Given the description of an element on the screen output the (x, y) to click on. 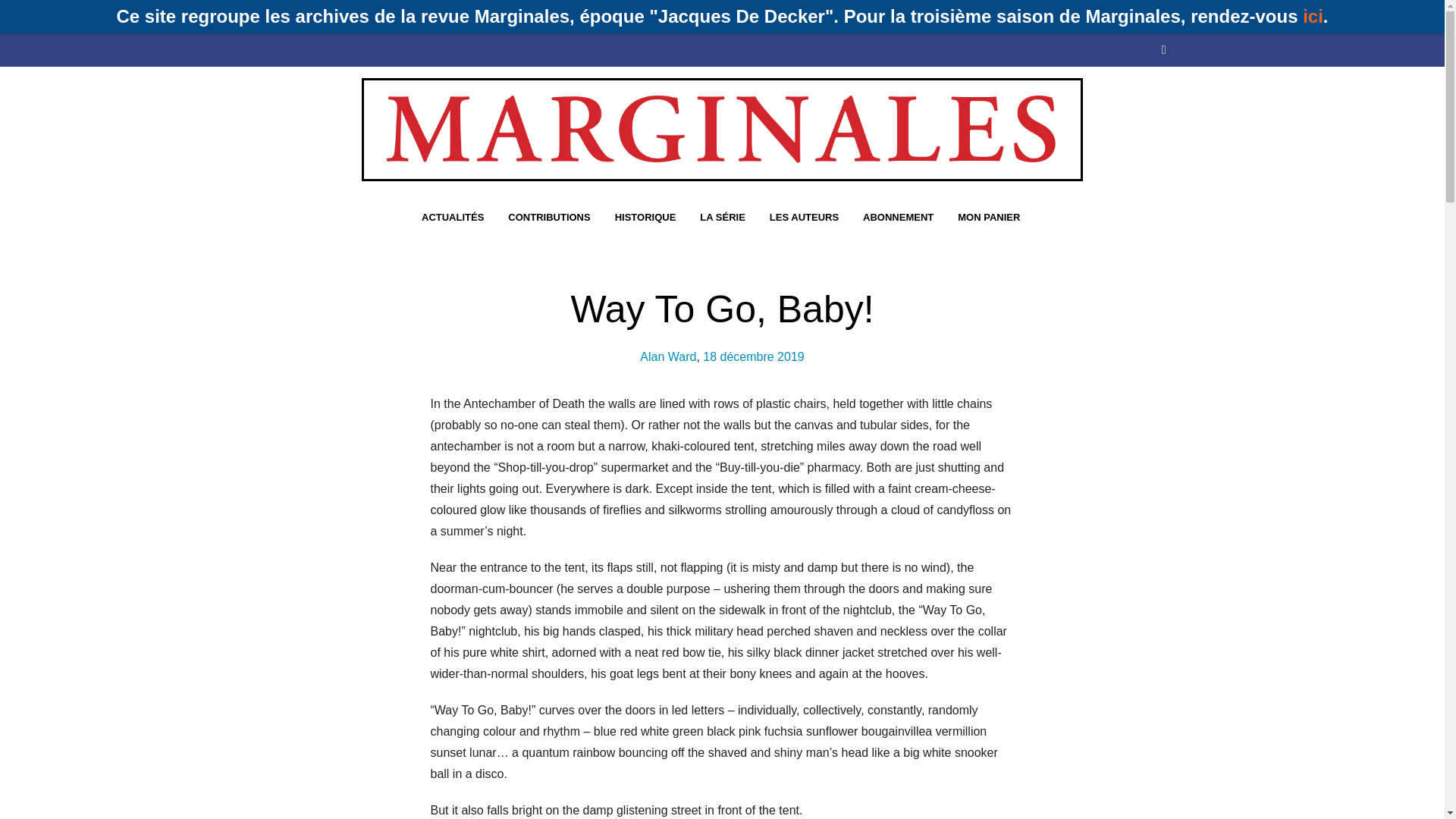
ABONNEMENT (897, 216)
HISTORIQUE (510, 7)
Recherche (1086, 222)
LES AUTEURS (665, 7)
Alan Ward (667, 356)
MON PANIER (988, 216)
Recherche (1086, 2)
LES AUTEURS (803, 216)
CONTRIBUTIONS (549, 216)
Permalien vers Way To Go, Baby! (753, 356)
ABONNEMENT (759, 7)
CONTRIBUTIONS (416, 7)
HISTORIQUE (645, 216)
ici (1313, 15)
MON PANIER (848, 7)
